Given the description of an element on the screen output the (x, y) to click on. 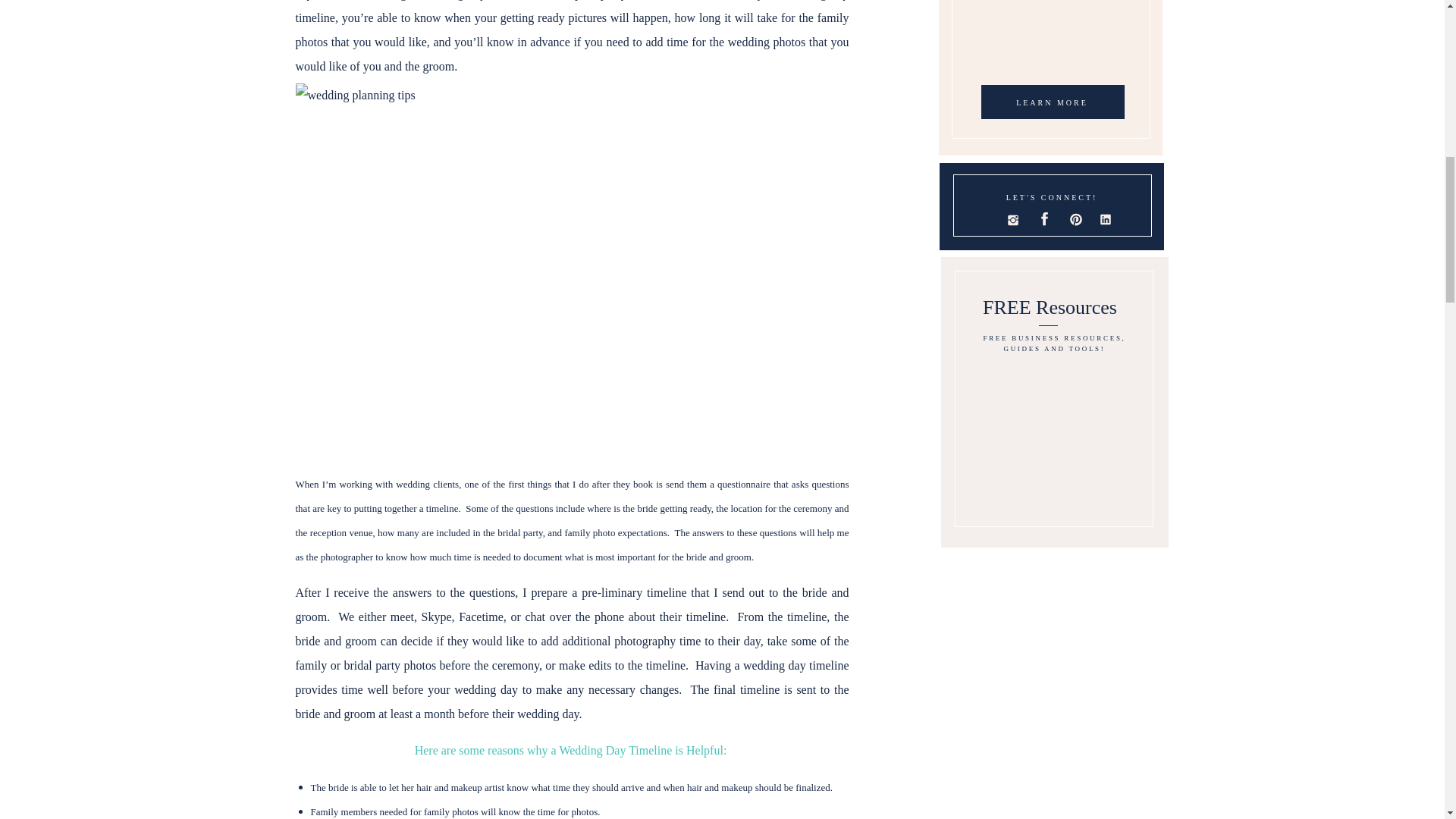
LEARN MORE (1052, 105)
FREE BUSINESS RESOURCES, GUIDES AND TOOLS! (1054, 347)
FREE Resources (1049, 310)
